Given the description of an element on the screen output the (x, y) to click on. 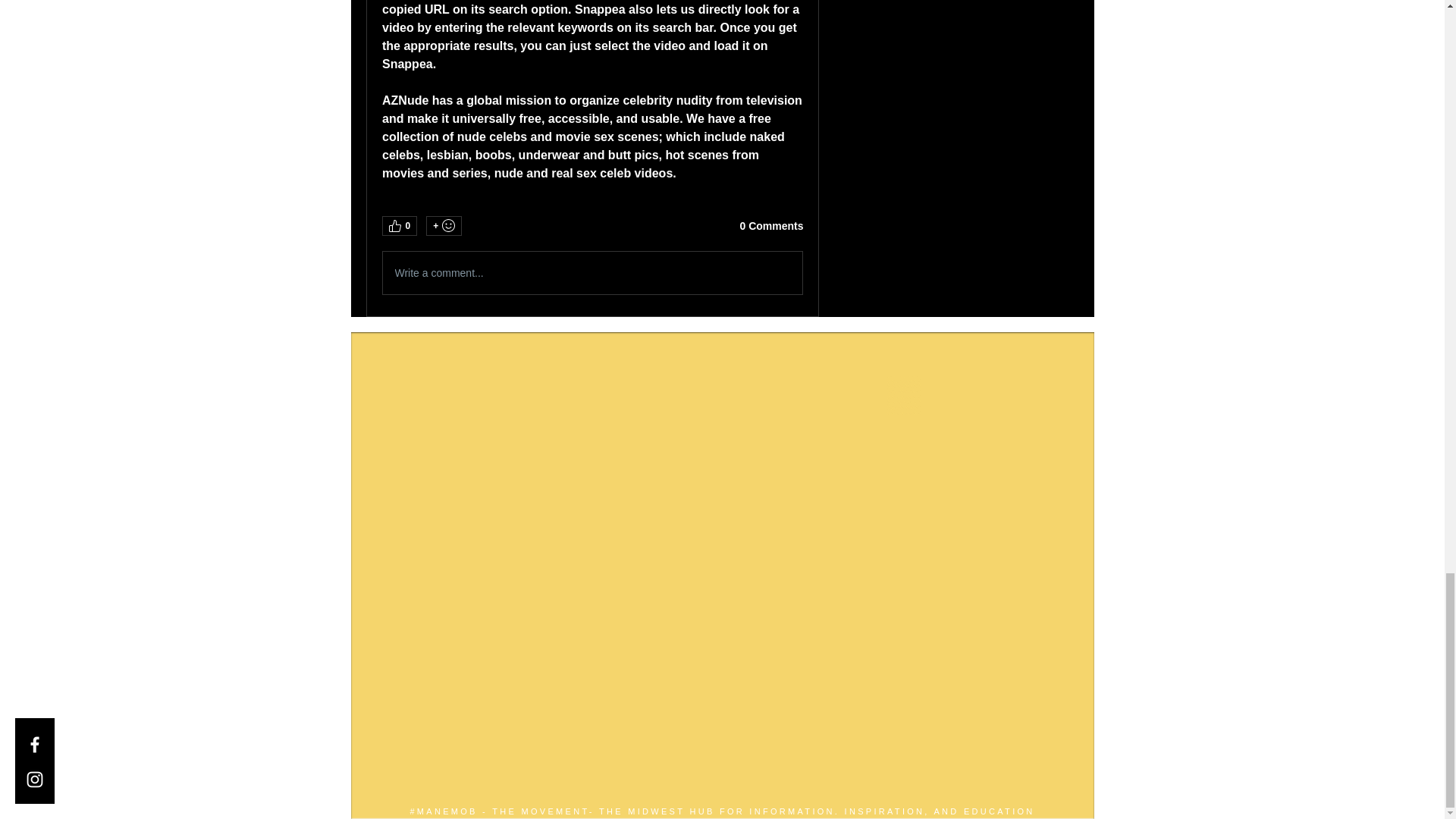
0 Comments (771, 226)
Write a comment... (591, 272)
